Given the description of an element on the screen output the (x, y) to click on. 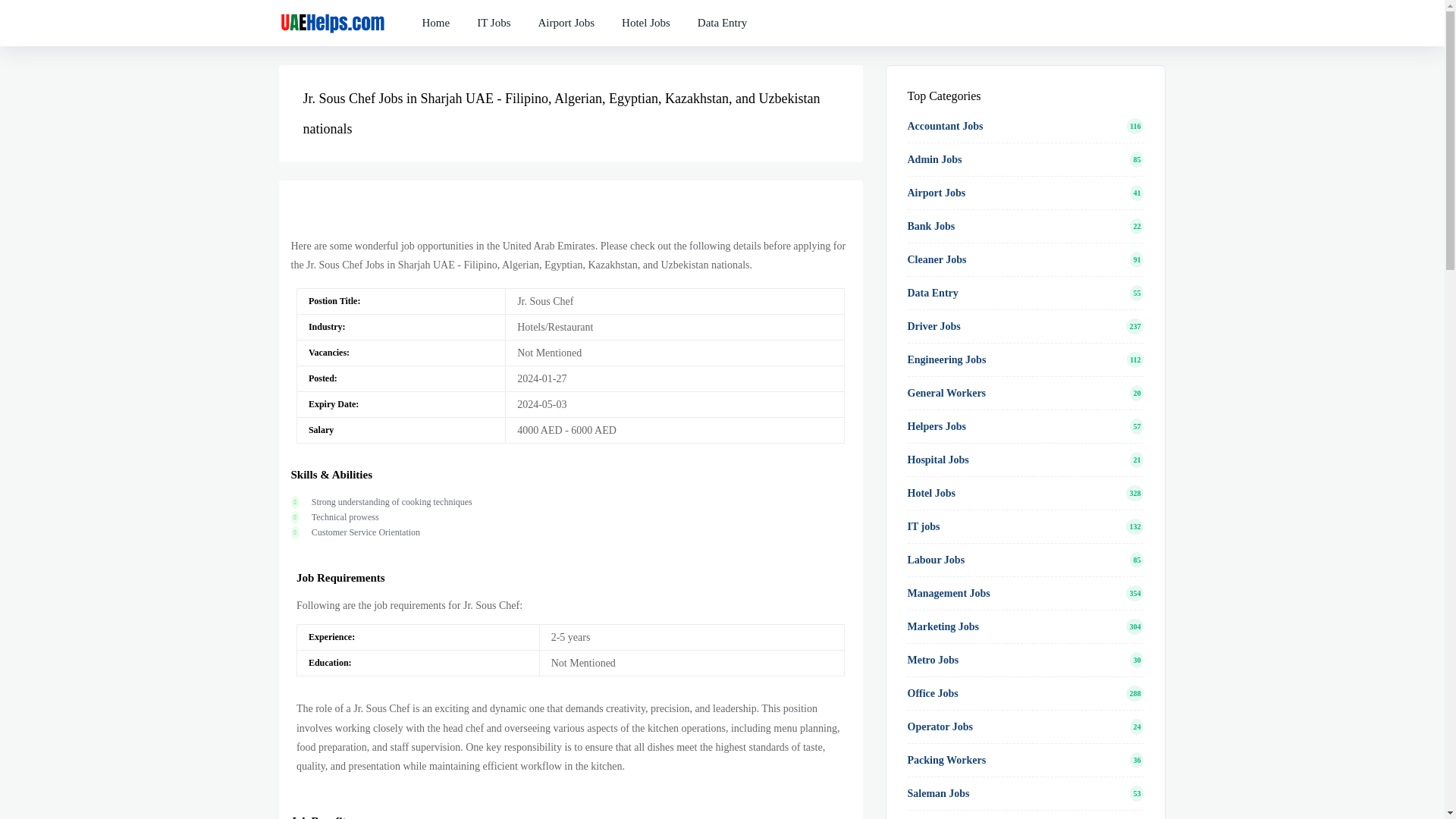
Airport Jobs (566, 16)
Term and Conditions (646, 22)
Declaimer (566, 22)
IT Jobs (493, 14)
Home (435, 13)
Data Entry (722, 19)
Hotel Jobs (646, 18)
